Given the description of an element on the screen output the (x, y) to click on. 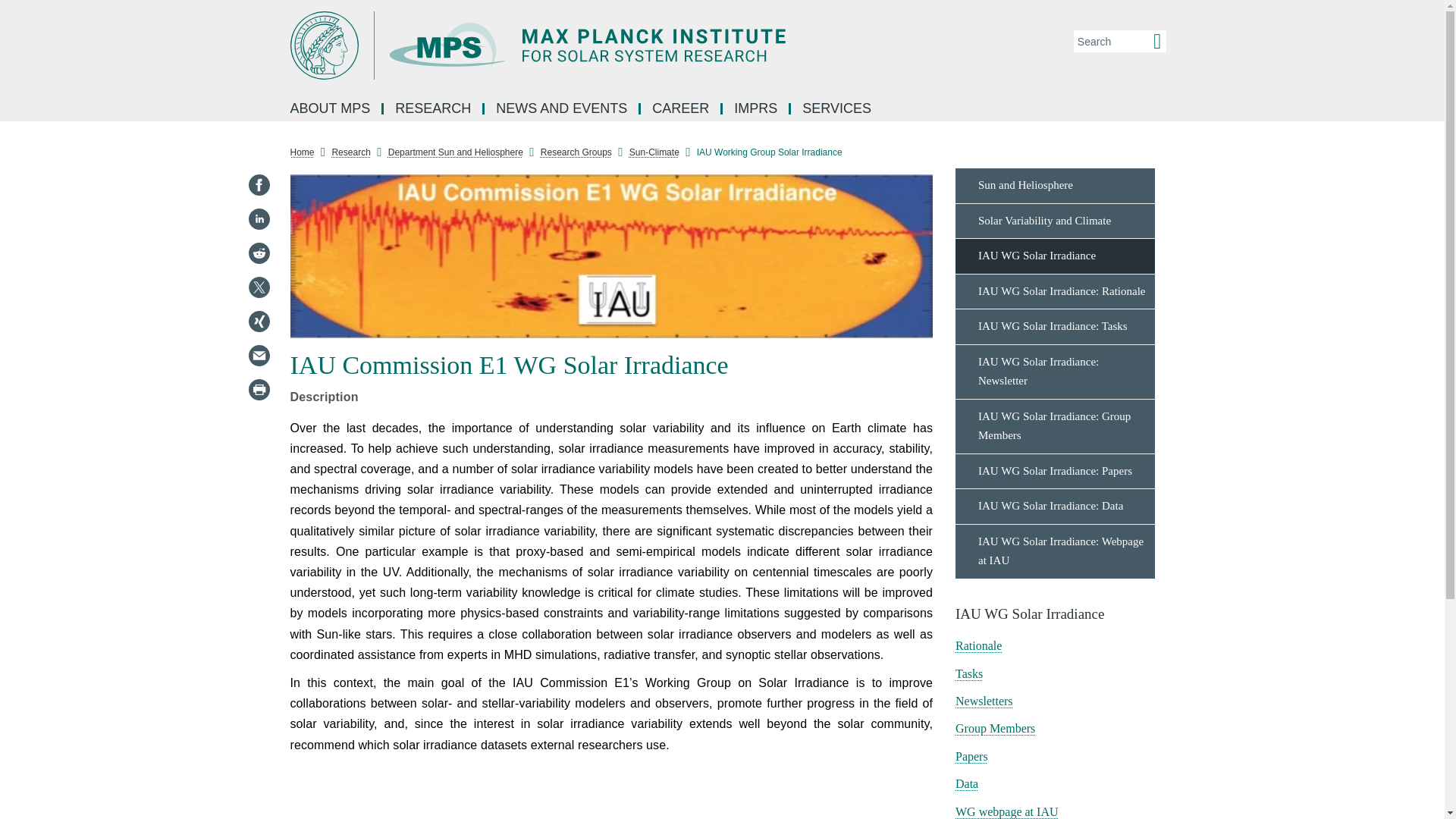
Print (258, 389)
LinkedIn (258, 219)
Twitter (258, 287)
RESEARCH (434, 108)
ABOUT MPS (331, 108)
E-Mail (258, 354)
Facebook (258, 184)
IAU Commission E1 WG Solar Irradiance (611, 256)
Xing (258, 321)
Reddit (258, 252)
